Given the description of an element on the screen output the (x, y) to click on. 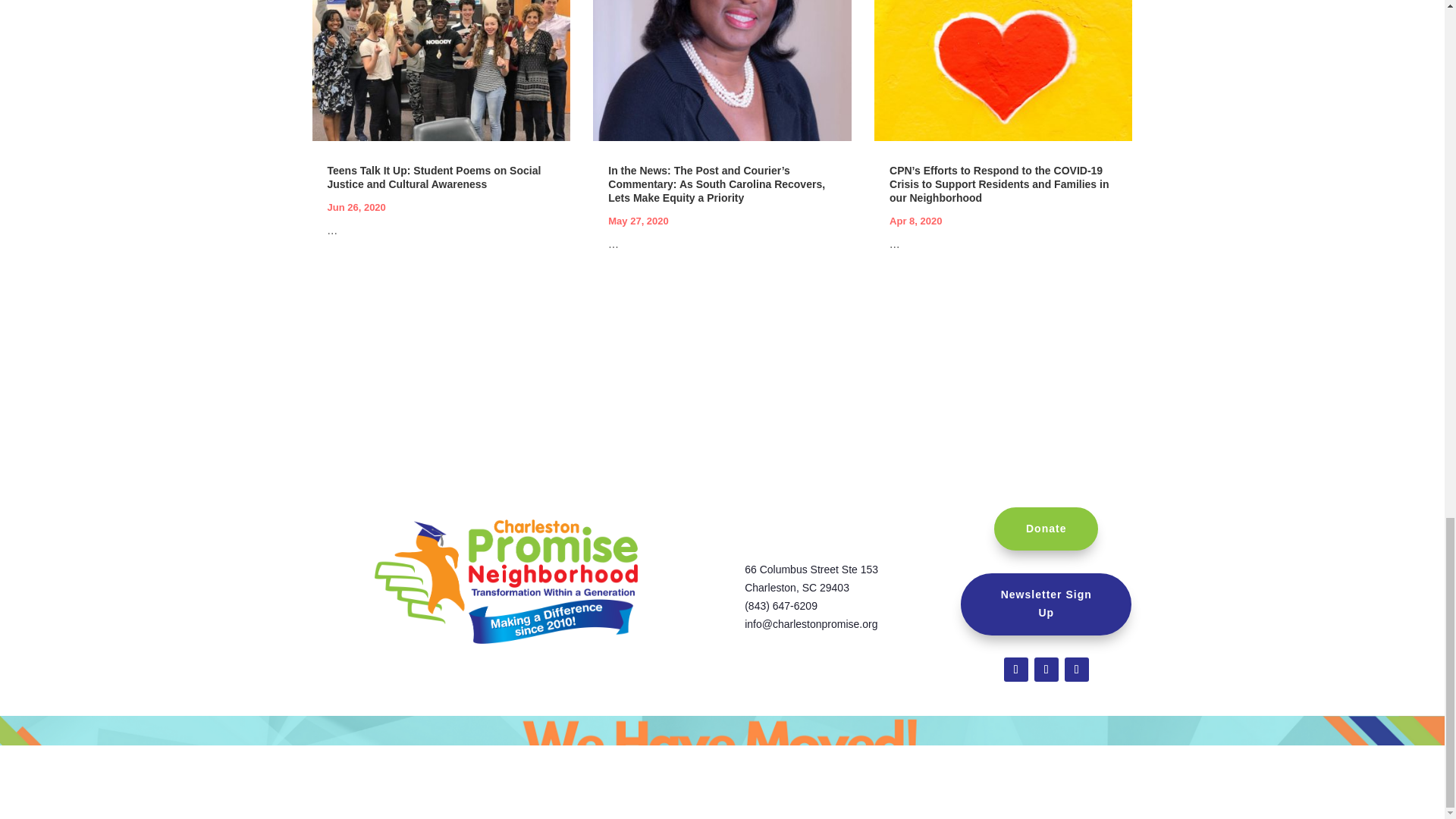
Follow on Instagram (1045, 669)
Office Location (629, 733)
Follow on LinkedIn (1076, 669)
Newsletter Sign Up (1045, 604)
Follow on Facebook (1015, 669)
MyPopUps (749, 36)
Resources (738, 733)
Donate (1045, 528)
